Given the description of an element on the screen output the (x, y) to click on. 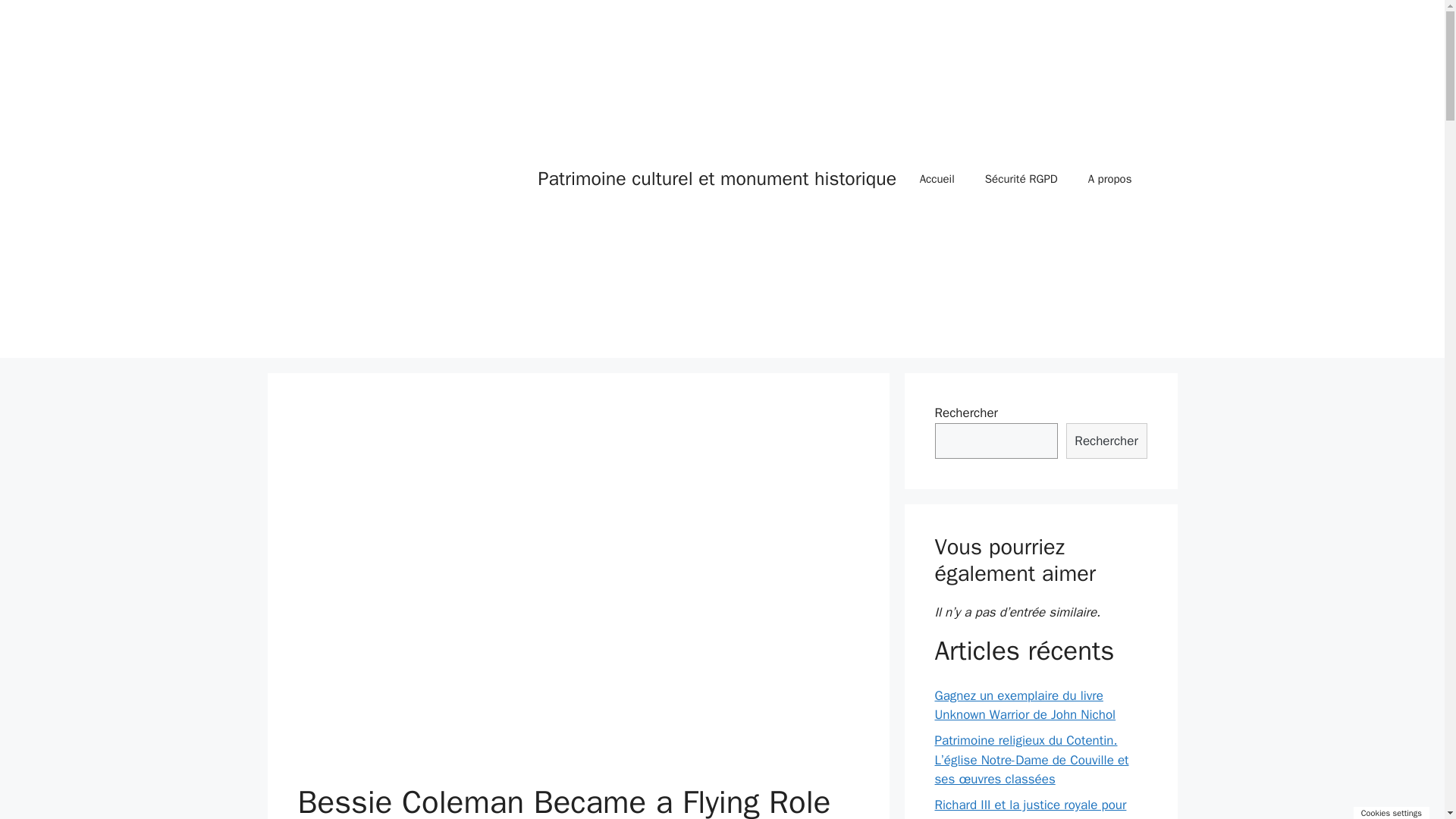
Gagnez un exemplaire du livre Unknown Warrior de John Nichol (1024, 705)
Patrimoine culturel et monument historique (410, 177)
Rechercher (1106, 441)
Accueil (936, 178)
A propos (1110, 178)
Richard III et la justice royale pour tous ? (1029, 807)
Patrimoine culturel et monument historique (717, 178)
